Given the description of an element on the screen output the (x, y) to click on. 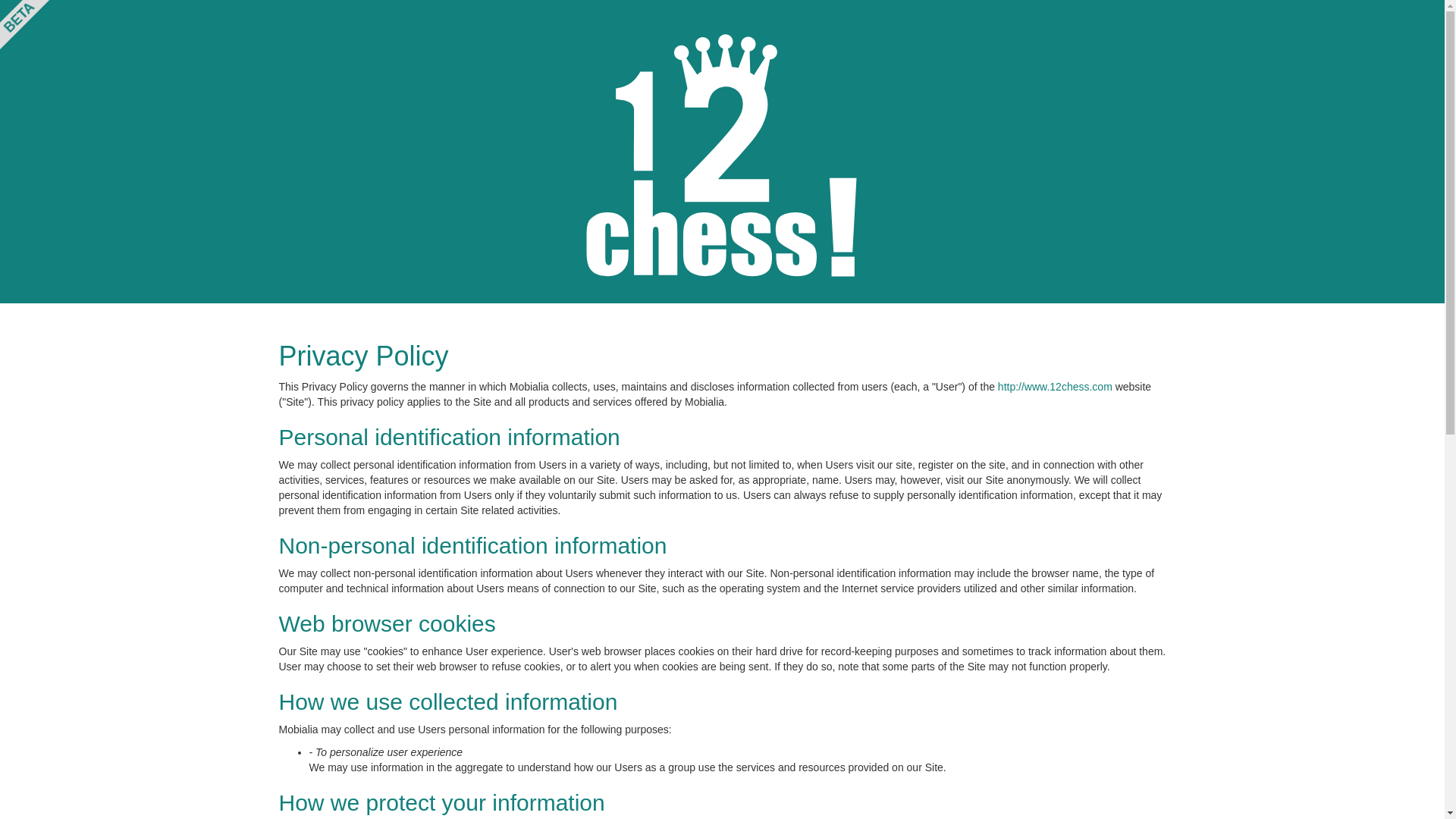
http://www.12chess.com Element type: text (1054, 386)
